Given the description of an element on the screen output the (x, y) to click on. 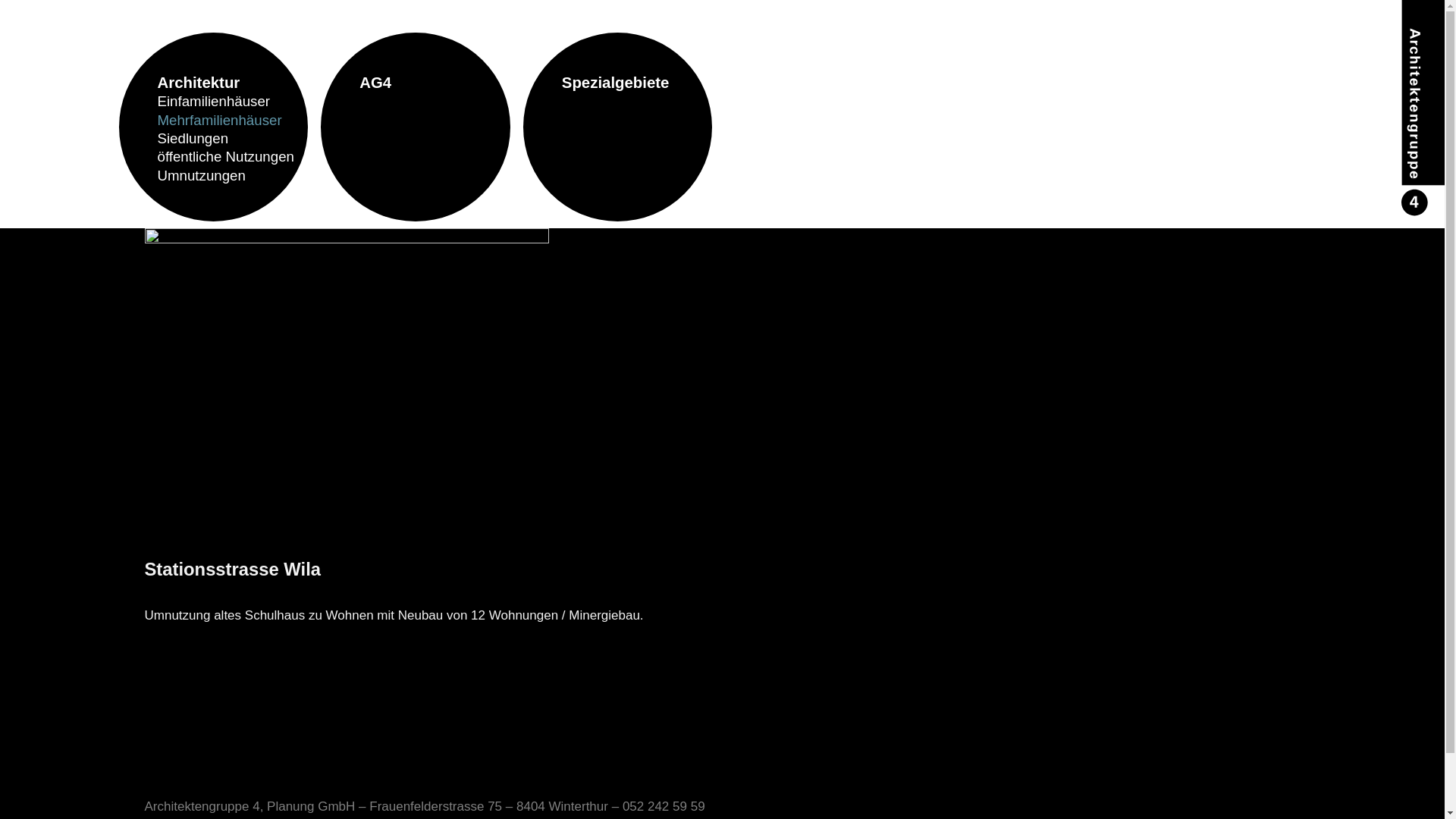
Siedlungen Element type: text (232, 138)
Spezialgebiete Element type: text (636, 82)
AG4 Element type: text (434, 82)
Umnutzungen Element type: text (232, 175)
Architektur Element type: text (232, 82)
